Given the description of an element on the screen output the (x, y) to click on. 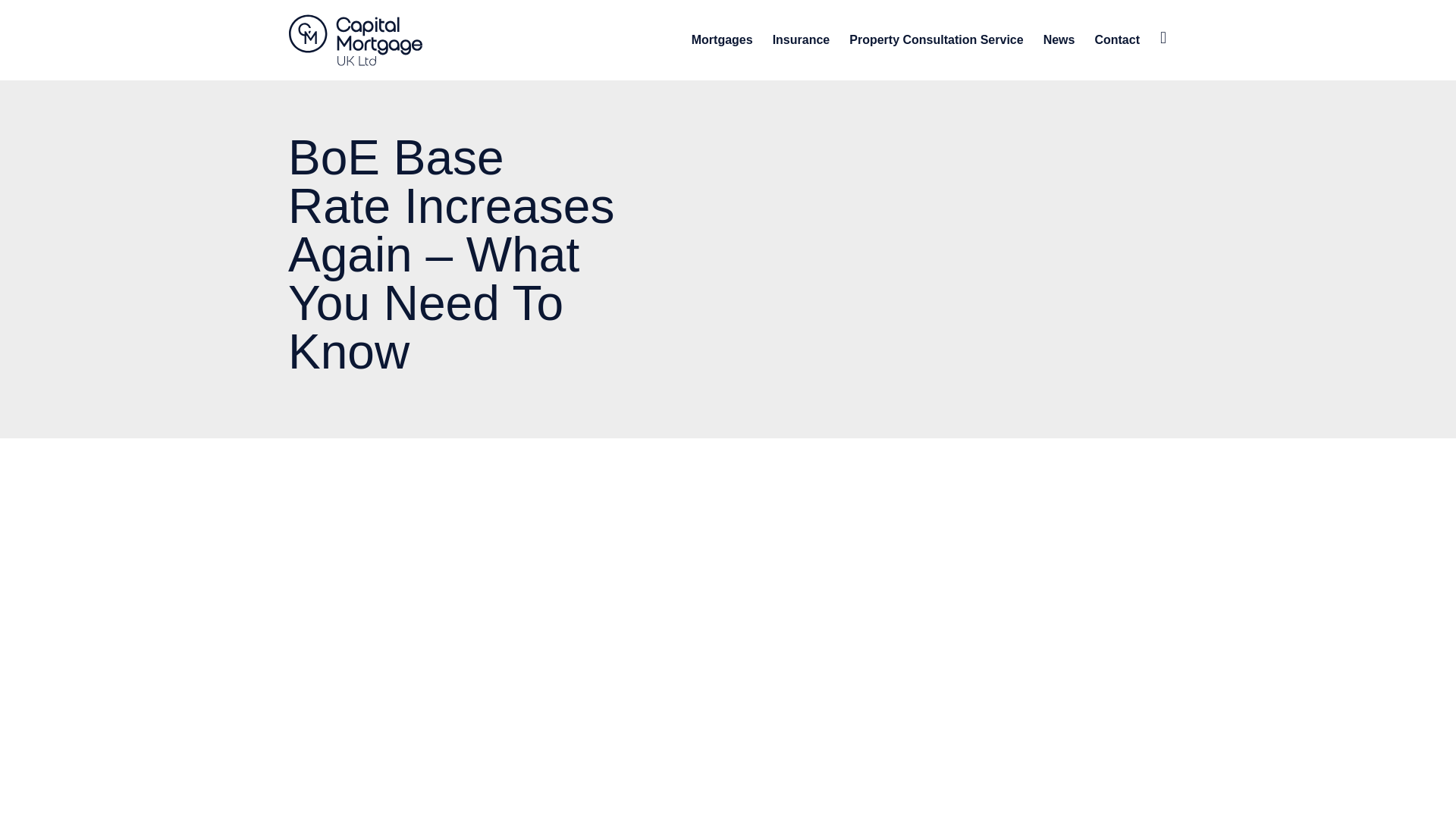
Contact (1117, 39)
Property Consultation Service (935, 39)
Insurance (801, 39)
Mortgages (721, 39)
News (1059, 39)
